Given the description of an element on the screen output the (x, y) to click on. 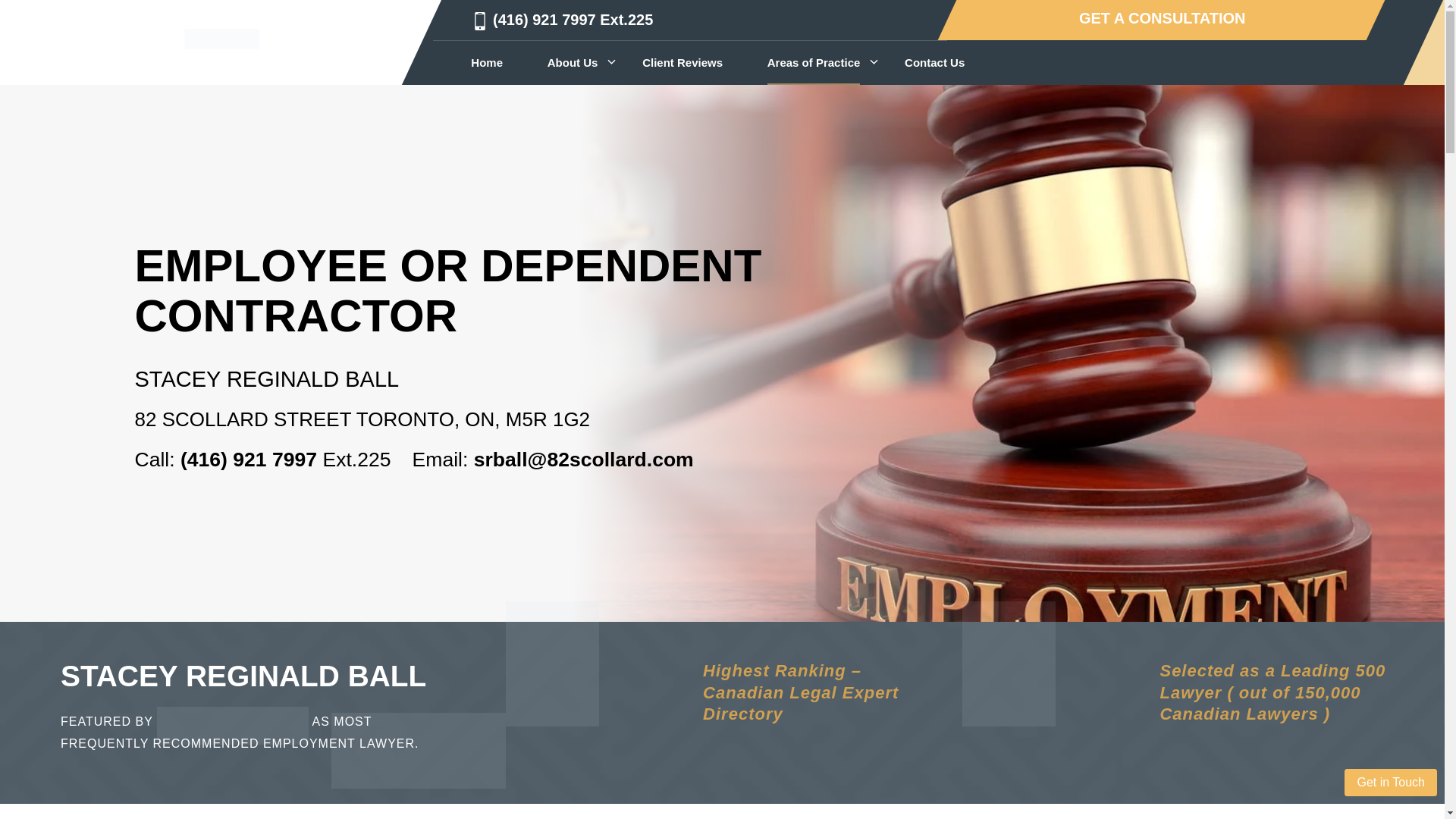
Home (486, 62)
About Us (572, 62)
Areas of Practice (813, 62)
GET A CONSULTATION (1162, 18)
Client Reviews (682, 62)
lexpert-img (232, 725)
